Given the description of an element on the screen output the (x, y) to click on. 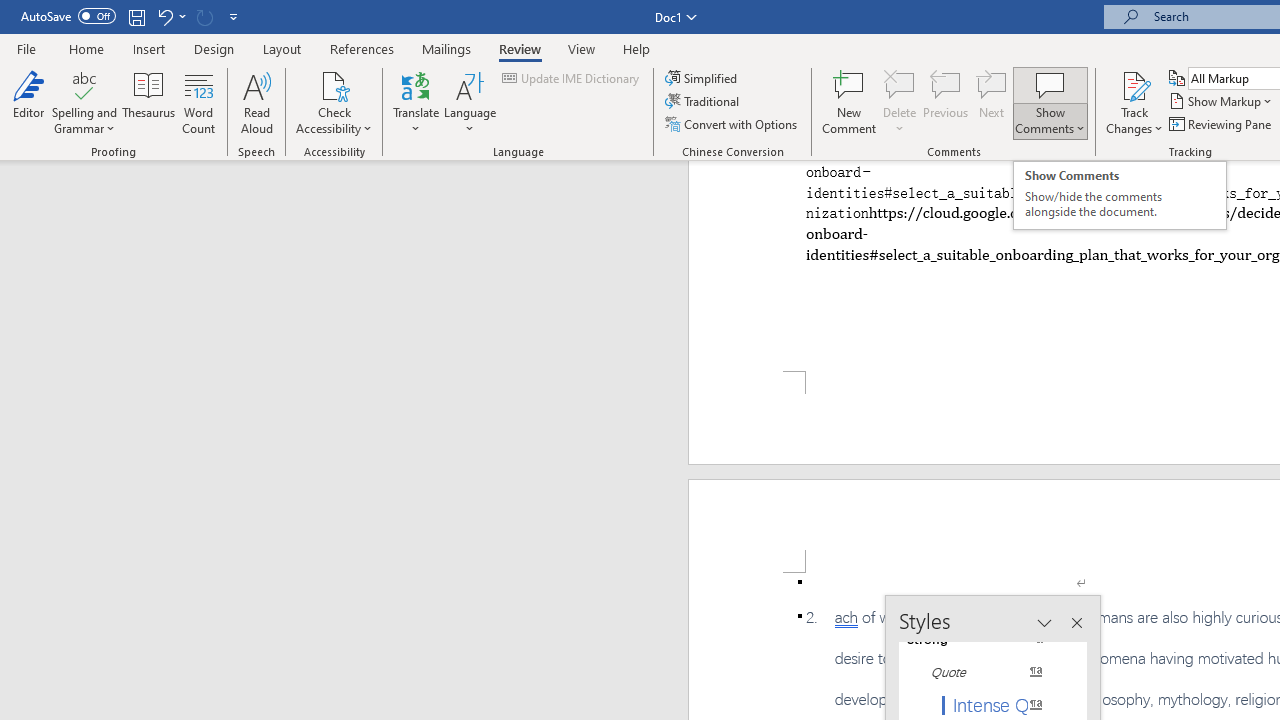
Translate (415, 102)
Simplified (702, 78)
Reviewing Pane (1221, 124)
Delete (900, 84)
Spelling and Grammar (84, 102)
